Given the description of an element on the screen output the (x, y) to click on. 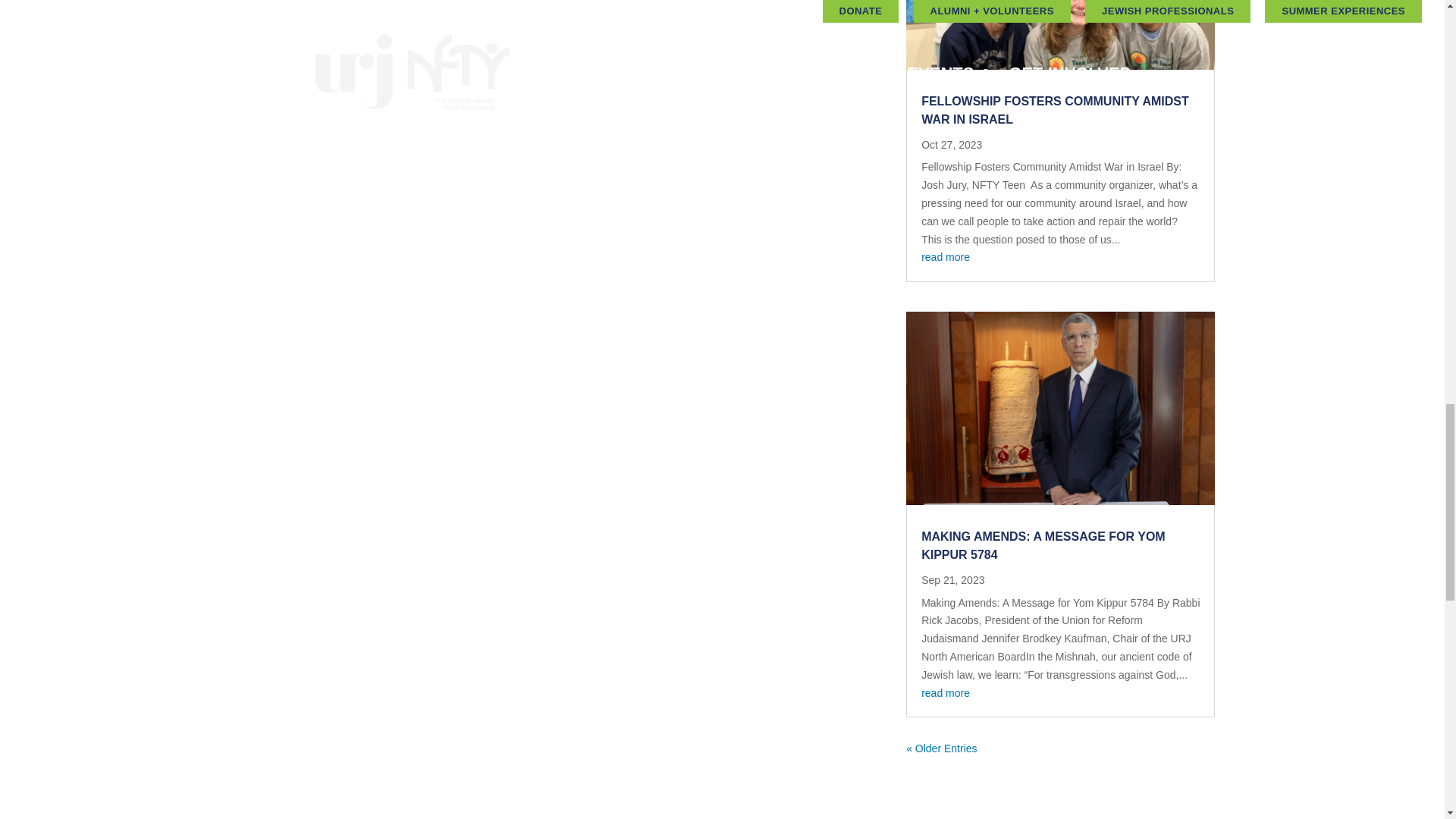
read more (945, 256)
MAKING AMENDS: A MESSAGE FOR YOM KIPPUR 5784 (1043, 545)
read more (945, 693)
FELLOWSHIP FOSTERS COMMUNITY AMIDST WAR IN ISRAEL (1055, 110)
